Given the description of an element on the screen output the (x, y) to click on. 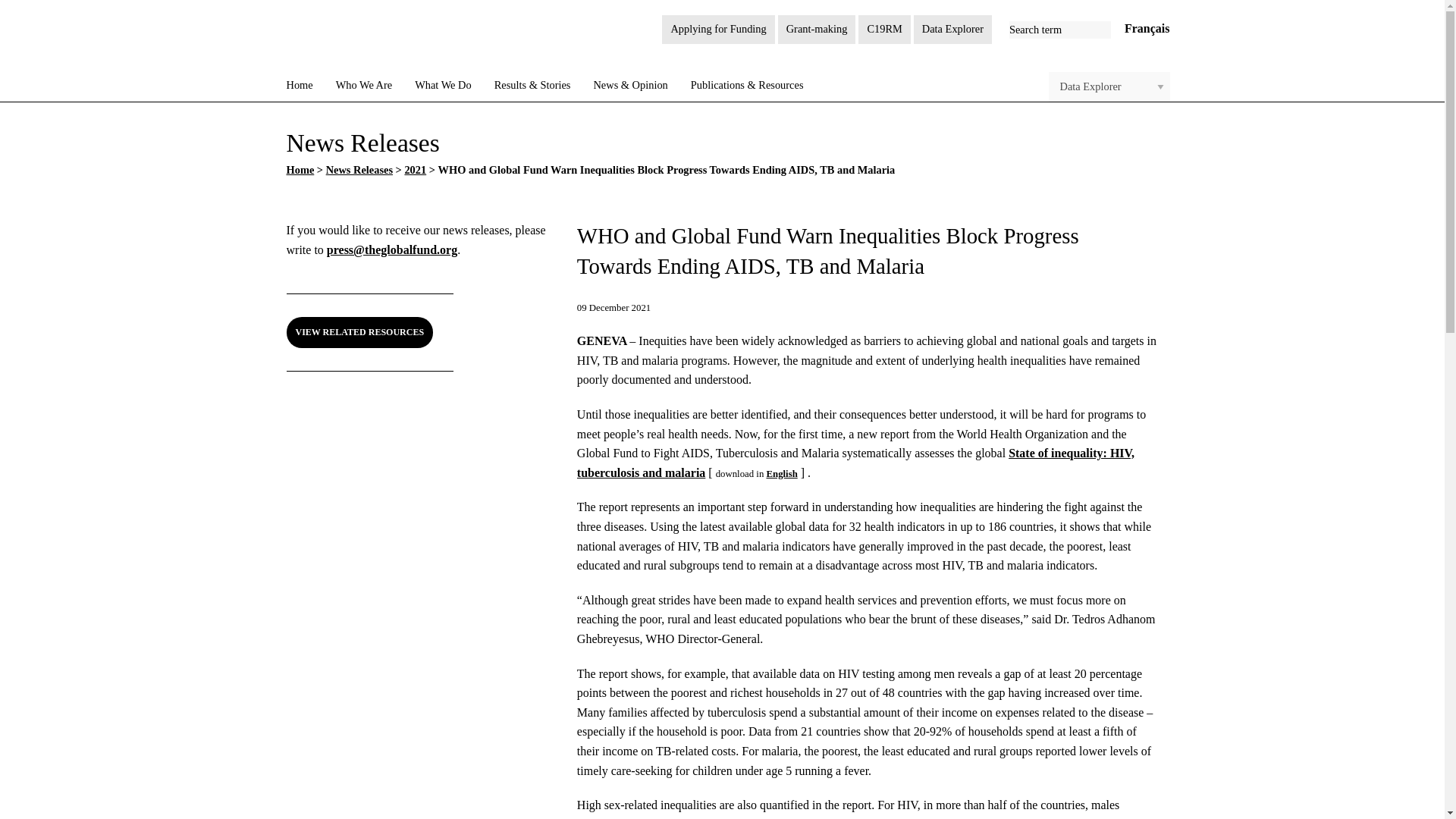
State of inequality: HIV, tuberculosis and malaria (780, 473)
Home (299, 84)
Data Explorer (952, 29)
Grant making (816, 29)
Grant-making (816, 29)
Applying for Funding (718, 29)
COVID-19 (884, 29)
C19RM (884, 29)
Applying for Funding (718, 29)
